Given the description of an element on the screen output the (x, y) to click on. 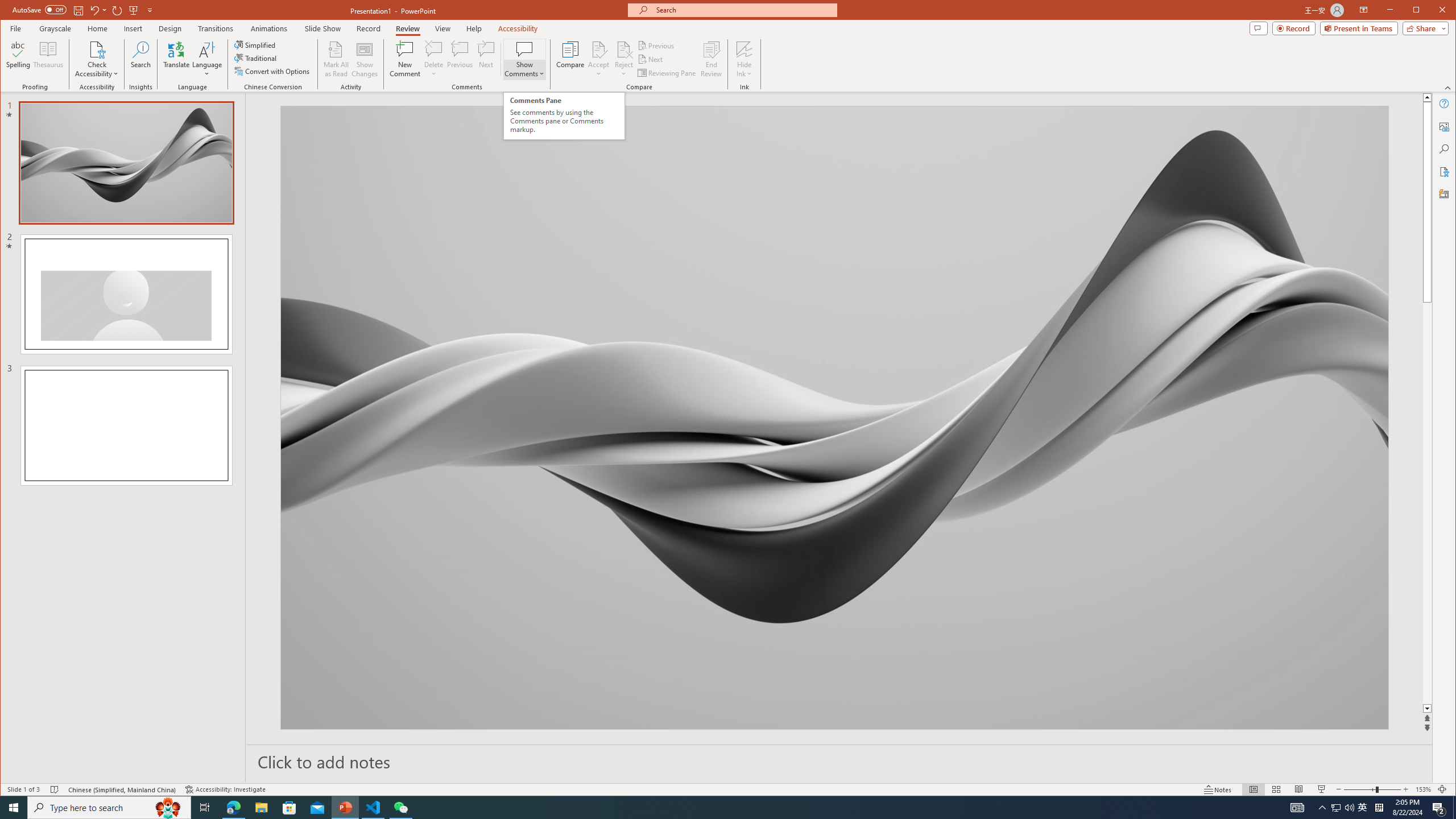
Slide Notes (839, 761)
Line down (1427, 709)
Action Center, 2 new notifications (1439, 807)
Translate (175, 59)
Wavy 3D art (835, 417)
Designer (1444, 194)
Maximize (1432, 11)
File Explorer (261, 807)
Next (651, 59)
Reviewing Pane (667, 72)
Line up (1427, 96)
Reject (623, 59)
